Given the description of an element on the screen output the (x, y) to click on. 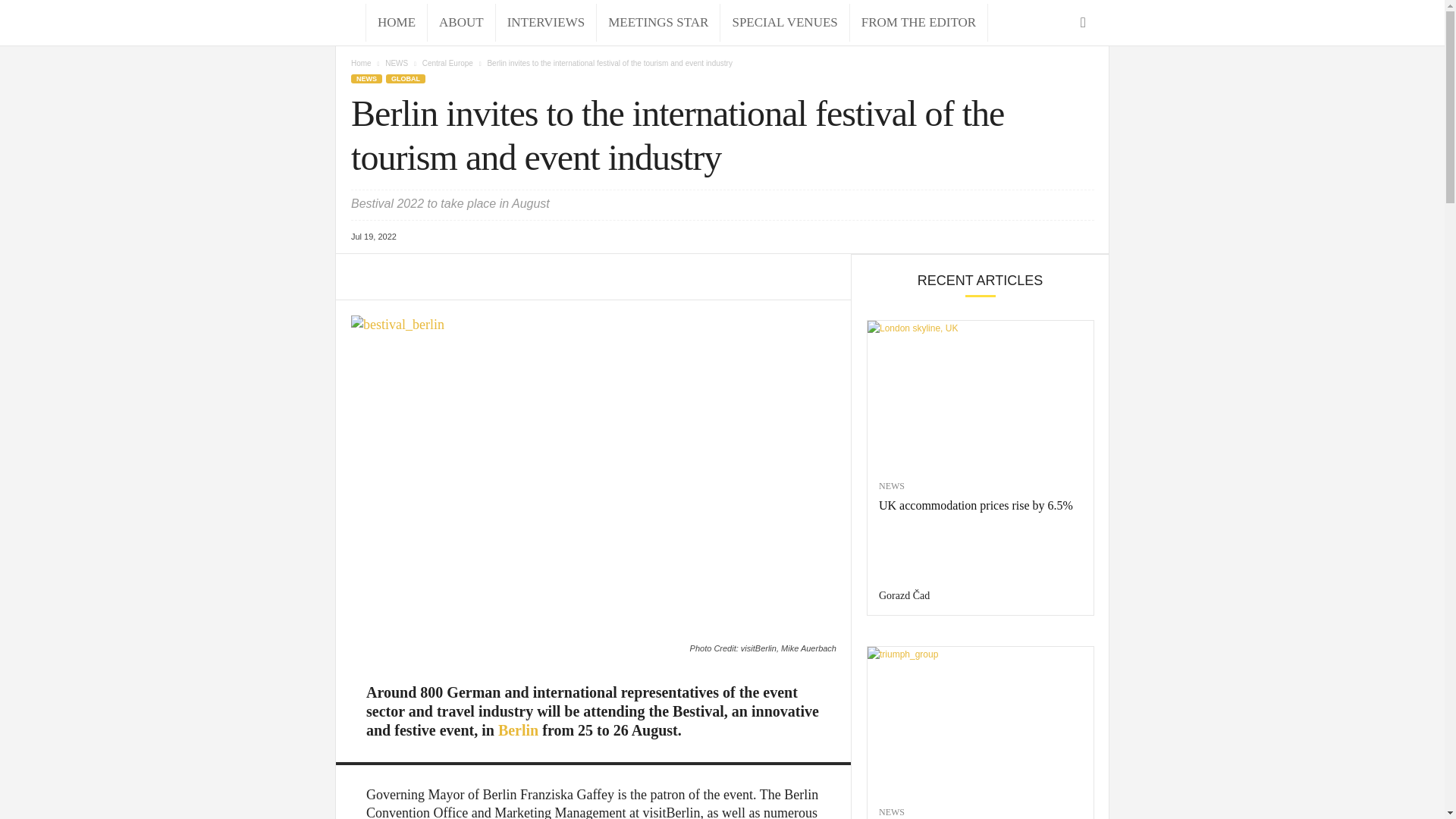
SPECIAL VENUES (784, 22)
ABOUT (461, 22)
View all posts in Central Europe (447, 62)
MEETINGS STAR (657, 22)
Home (360, 62)
FROM THE EDITOR (918, 22)
Central Europe (447, 62)
INTERVIEWS (546, 22)
View all posts in NEWS (396, 62)
NEWS (396, 62)
